Given the description of an element on the screen output the (x, y) to click on. 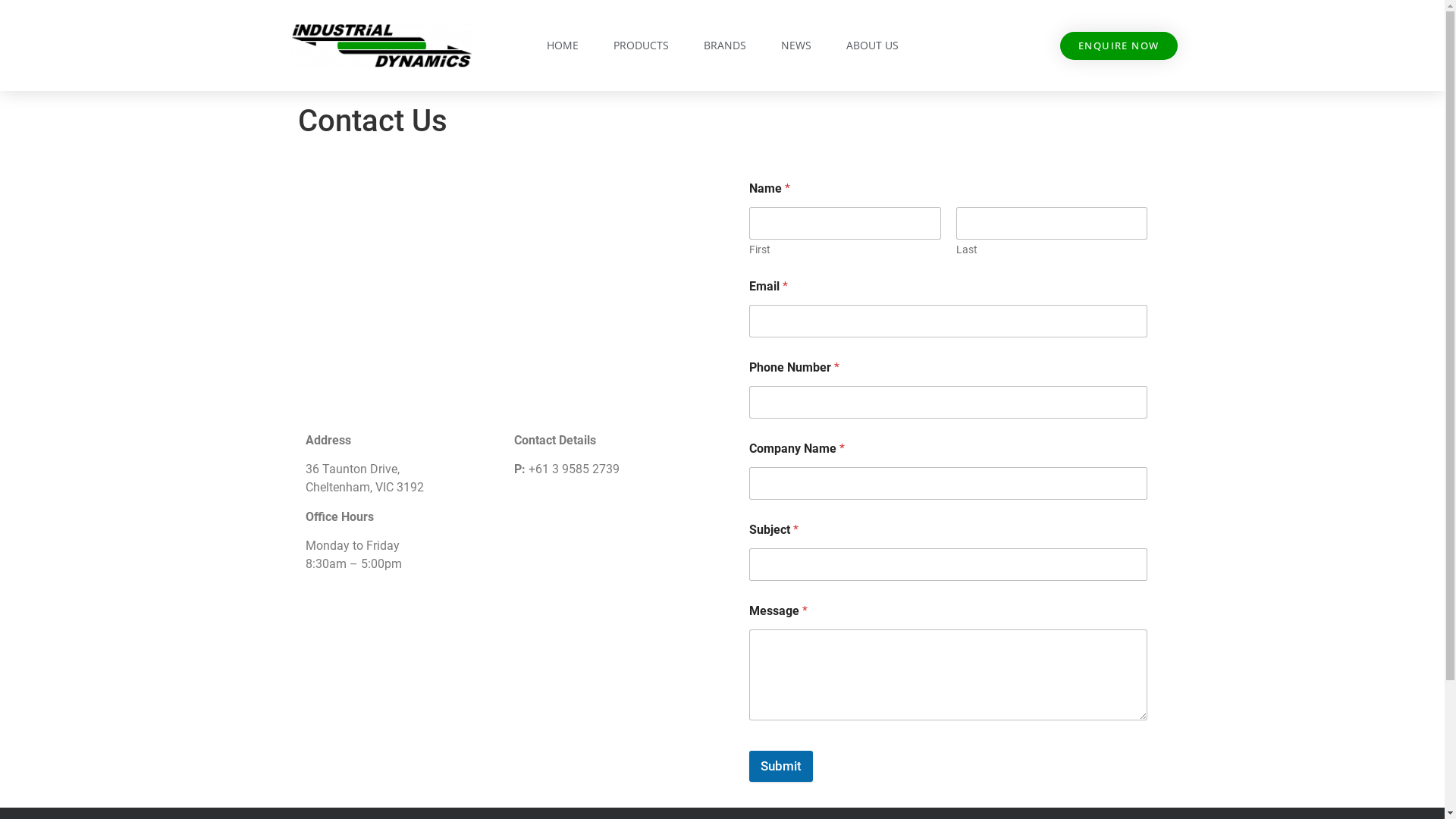
36 Taunton Drive, Cheltenham, VIC 3192 Element type: hover (505, 294)
Submit Element type: text (780, 765)
NEWS Element type: text (795, 45)
ABOUT US Element type: text (872, 45)
PRODUCTS Element type: text (640, 45)
BRANDS Element type: text (724, 45)
HOME Element type: text (561, 45)
ENQUIRE NOW Element type: text (1118, 45)
